Given the description of an element on the screen output the (x, y) to click on. 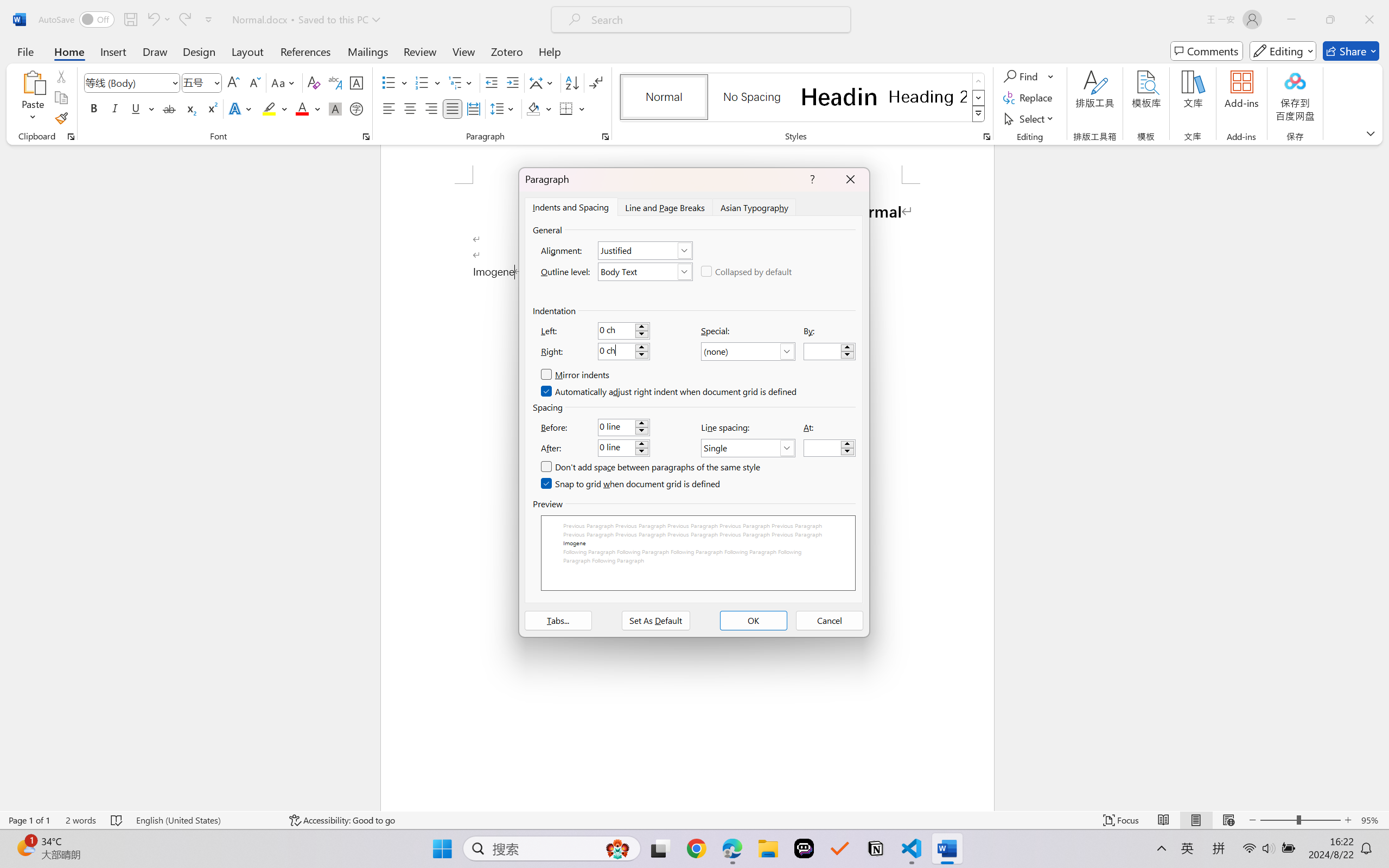
Decrease Indent (491, 82)
Align Right (431, 108)
Left: (623, 330)
Character Border (356, 82)
Alignment: (645, 250)
Font... (365, 136)
Heading 1 (839, 96)
